Given the description of an element on the screen output the (x, y) to click on. 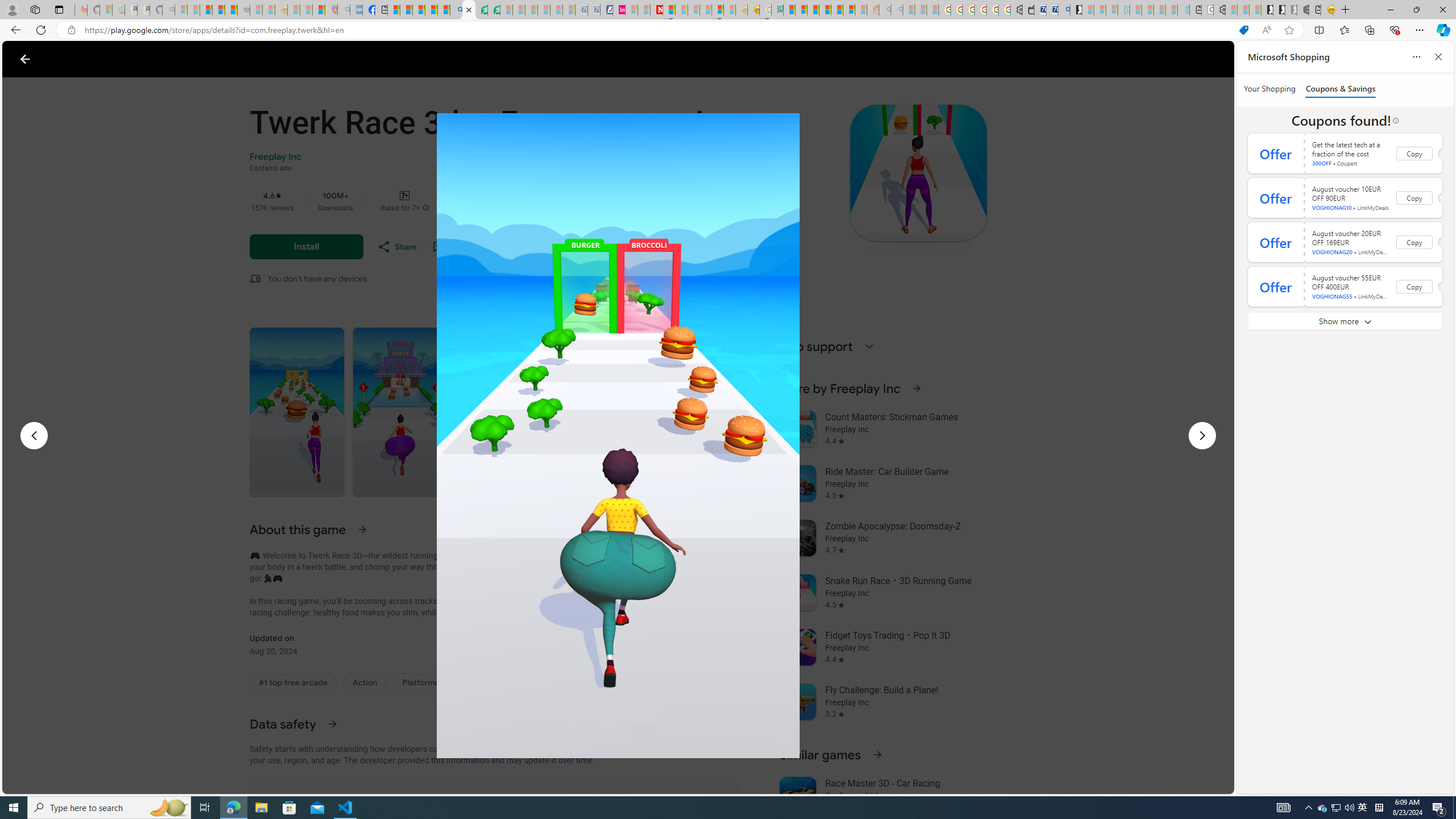
Pets - MSN (431, 9)
Jobs - lastminute.com Investor Portal (619, 9)
Content rating (405, 194)
Wallet (1028, 9)
